Given the description of an element on the screen output the (x, y) to click on. 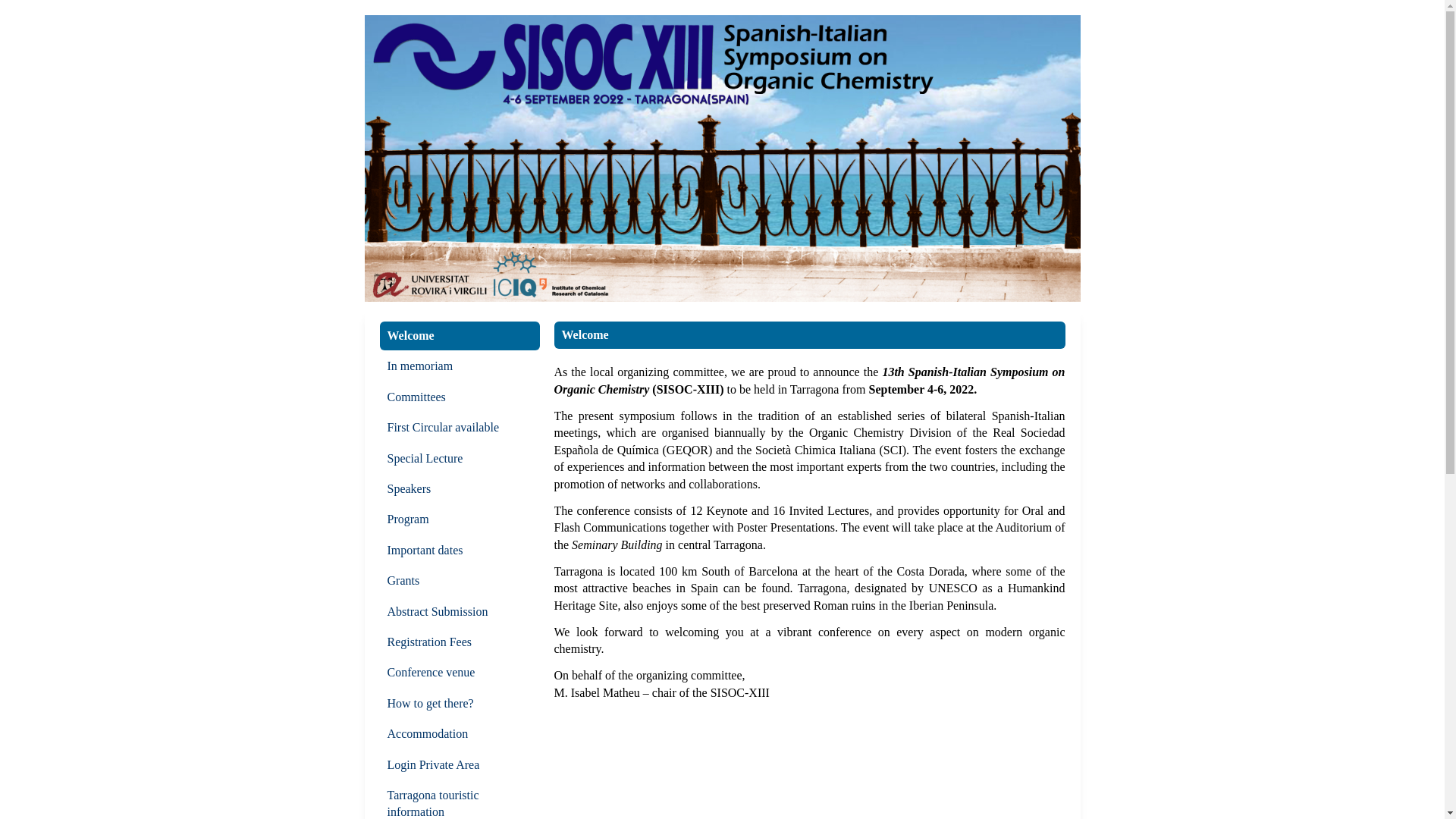
Grants Element type: text (459, 580)
Speakers Element type: text (459, 488)
Accommodation Element type: text (459, 733)
Program Element type: text (459, 519)
Important dates Element type: text (459, 550)
Conference venue Element type: text (459, 672)
In memoriam Element type: text (459, 365)
Welcome Element type: text (459, 335)
Special Lecture Element type: text (459, 458)
Abstract Submission Element type: text (459, 611)
Committees Element type: text (459, 396)
Registration Fees Element type: text (459, 641)
First Circular available Element type: text (459, 427)
How to get there? Element type: text (459, 703)
Login Private Area Element type: text (459, 764)
